Given the description of an element on the screen output the (x, y) to click on. 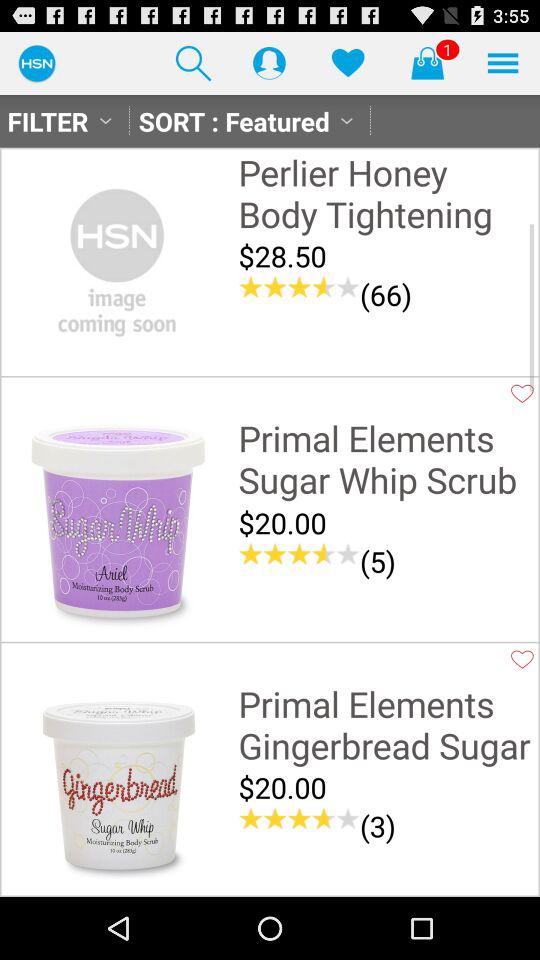
turn on (5) item (378, 560)
